Given the description of an element on the screen output the (x, y) to click on. 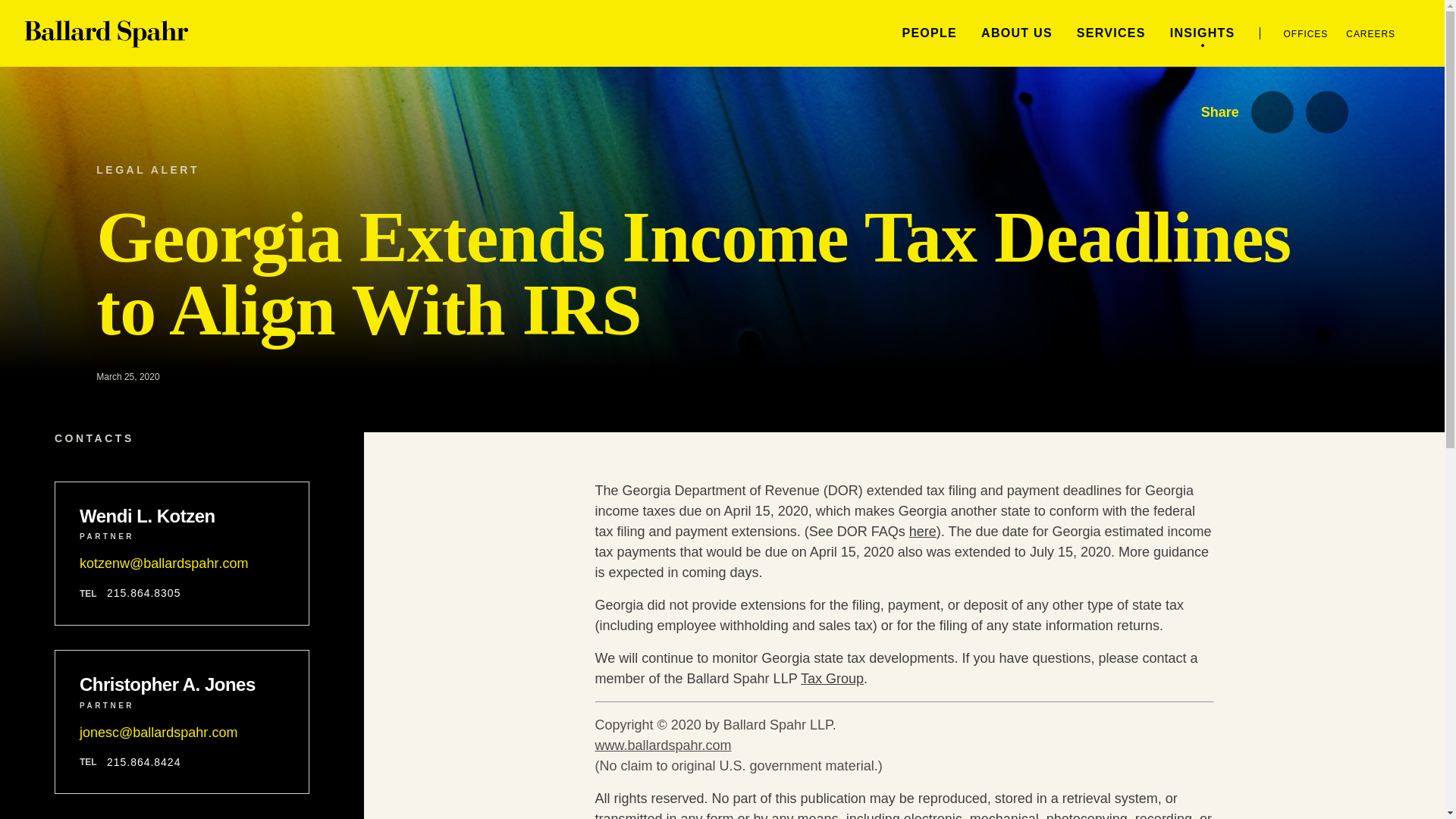
www.ballardspahr.com (662, 744)
CAREERS (1369, 33)
here (922, 531)
Wendi L. Kotzen (181, 516)
ABOUT US (1016, 32)
Christopher A. Jones (181, 684)
Tax Group (831, 678)
OFFICES (1305, 33)
215.864.8305 (143, 593)
INSIGHTS (1202, 32)
